Given the description of an element on the screen output the (x, y) to click on. 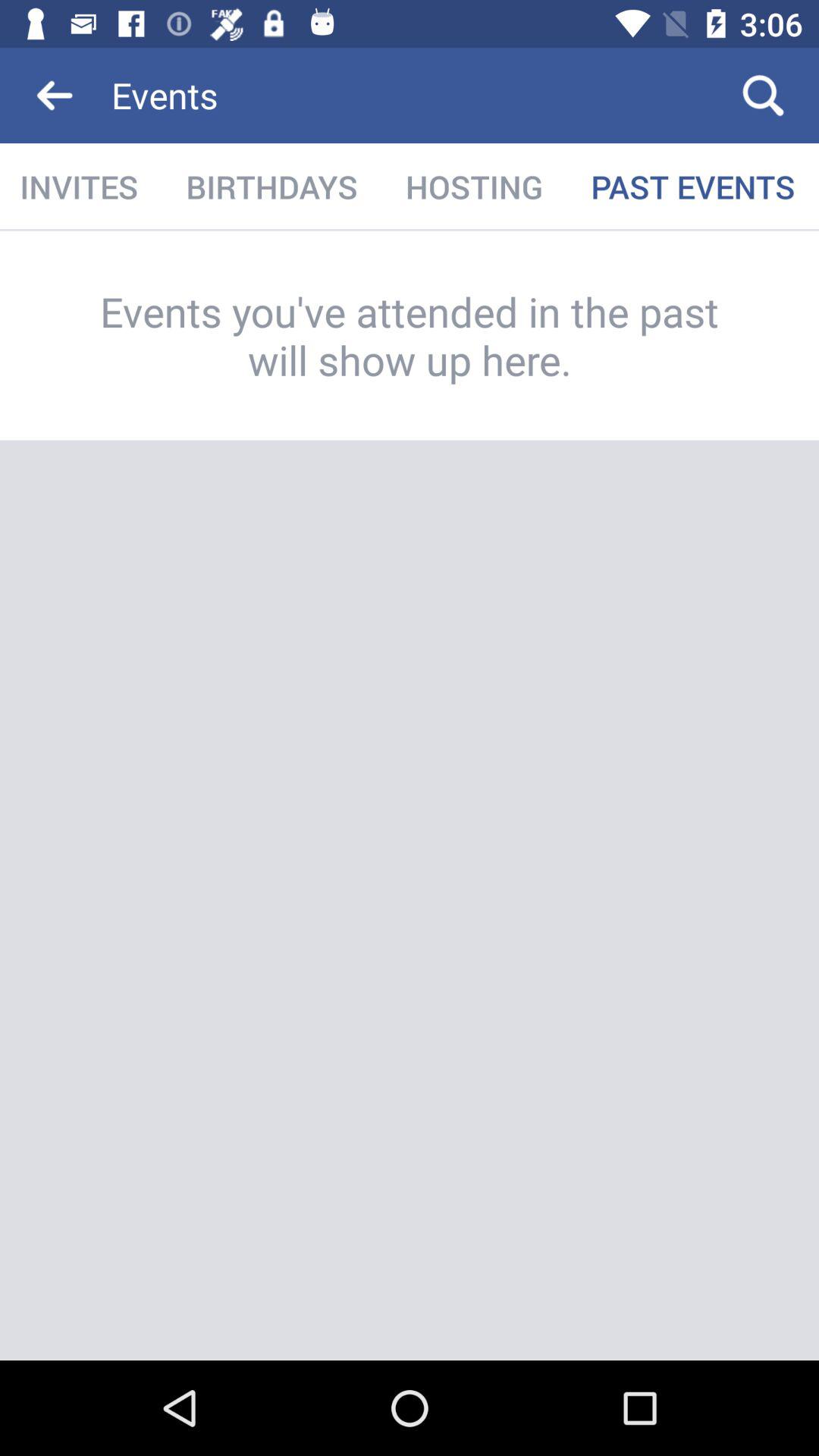
launch icon next to the events (763, 95)
